Given the description of an element on the screen output the (x, y) to click on. 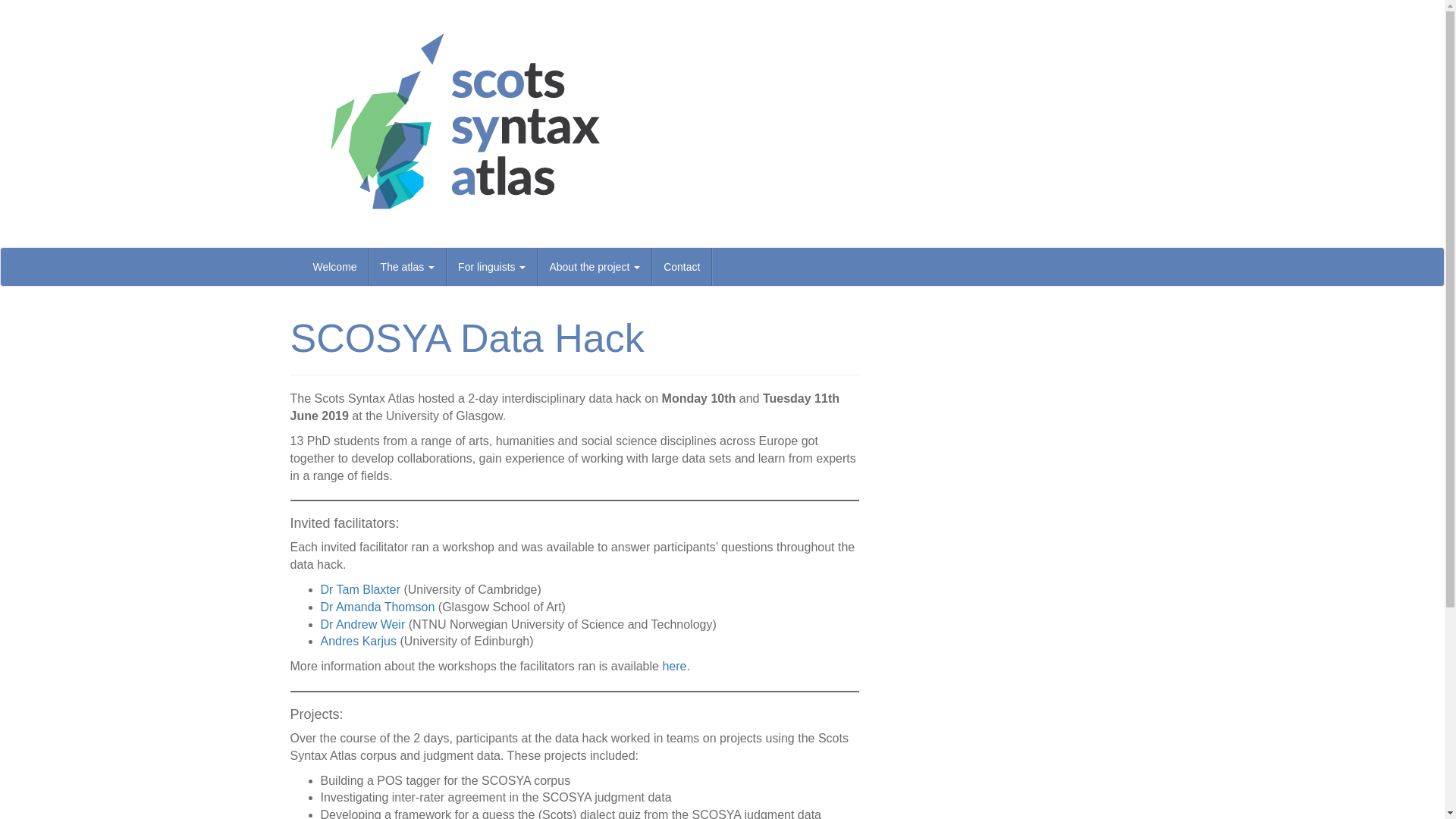
About the project (594, 266)
The atlas (407, 266)
Dr Tam Blaxter (360, 589)
Dr Andrew Weir (362, 624)
For linguists (491, 266)
Andres Karjus (358, 640)
For linguists (491, 266)
Dr Amanda Thomson (376, 606)
Welcome (335, 266)
The atlas (407, 266)
